Given the description of an element on the screen output the (x, y) to click on. 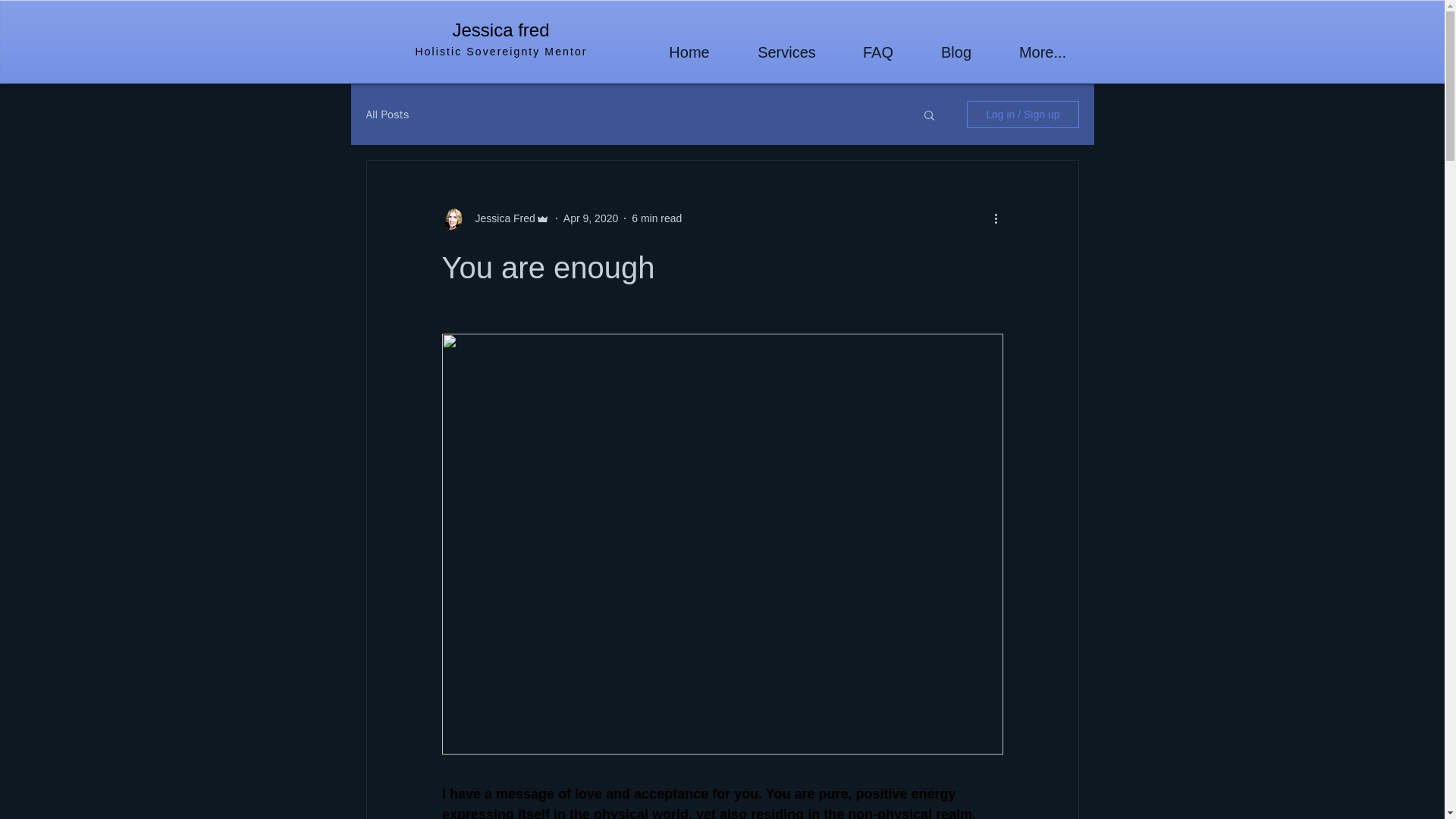
Services (785, 52)
All Posts (387, 114)
Blog (956, 52)
Home (690, 52)
FAQ (877, 52)
Apr 9, 2020 (590, 218)
Jessica Fred (499, 218)
Jessica fred (499, 29)
Holistic Sovereignty Mentor (500, 51)
6 min read (656, 218)
